Given the description of an element on the screen output the (x, y) to click on. 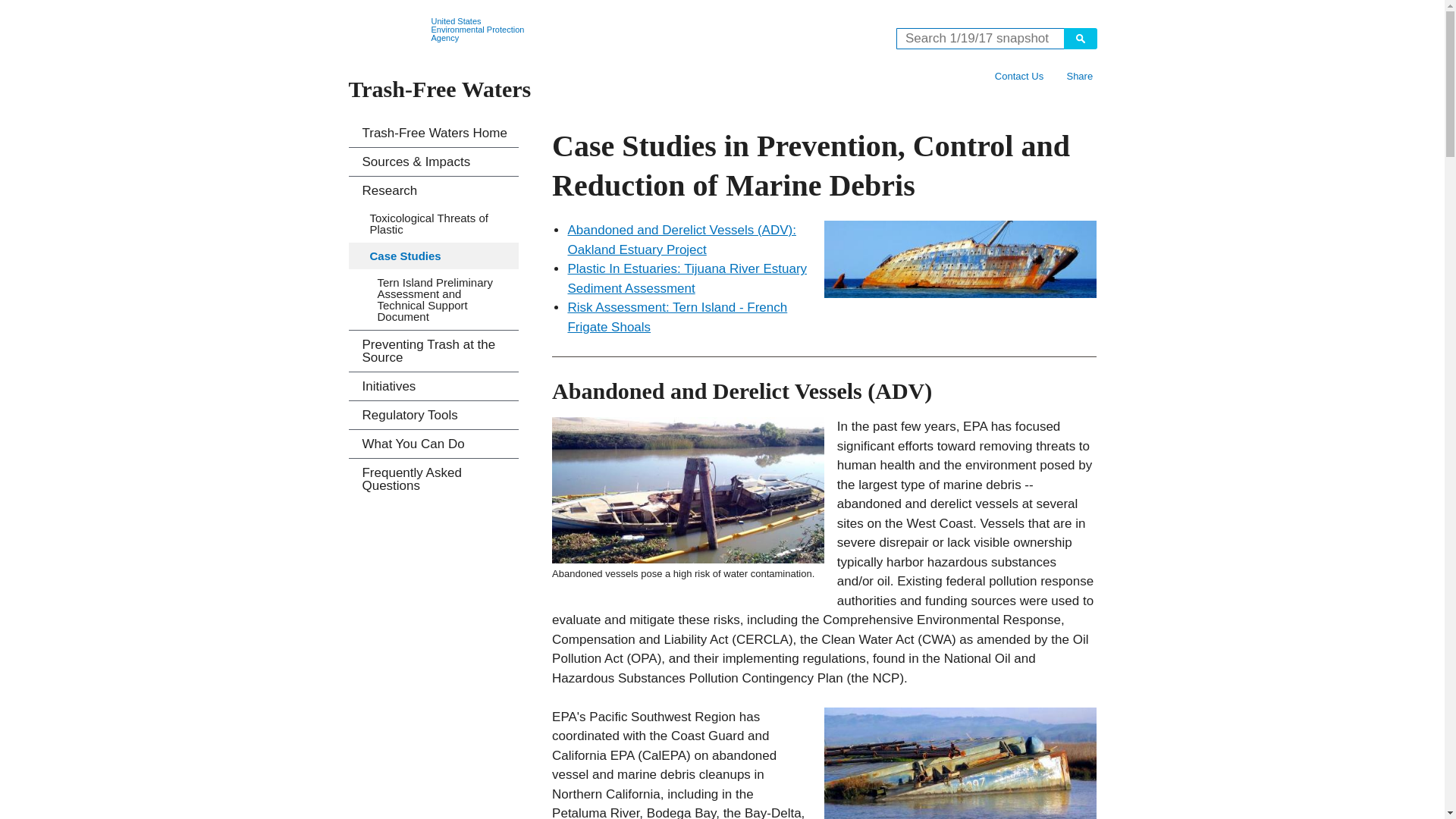
Share (1079, 76)
Risk Assessment: Tern Island - French Frigate Shoals (677, 317)
Frequently Asked Questions (433, 478)
Toxicological Threats of Plastic (433, 223)
Jump to main content (721, 9)
Preventing Trash at the Source (433, 350)
What You Can Do (433, 443)
Abandoned and Derelict Vessels (960, 259)
Contact Us (1018, 76)
Initiatives (433, 386)
US EPA (387, 29)
Search (1079, 38)
Click to enlarge (687, 489)
